Given the description of an element on the screen output the (x, y) to click on. 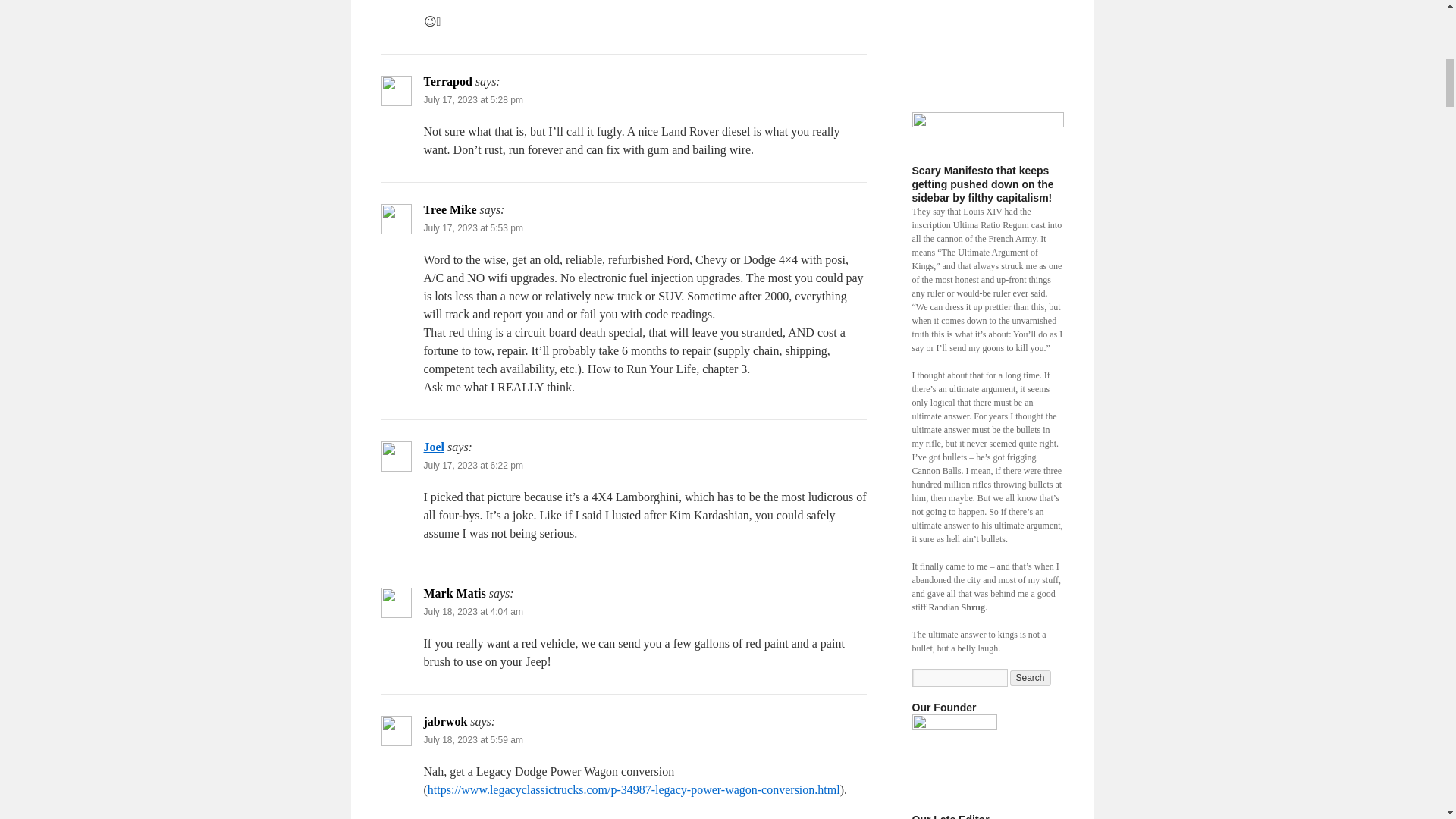
Search (1030, 677)
It matches my shoes and purse. (953, 756)
Joel (433, 446)
July 18, 2023 at 5:59 am (472, 739)
Search (1030, 677)
July 17, 2023 at 5:28 pm (472, 100)
July 18, 2023 at 4:04 am (472, 611)
July 17, 2023 at 5:53 pm (472, 227)
July 17, 2023 at 6:22 pm (472, 465)
